Given the description of an element on the screen output the (x, y) to click on. 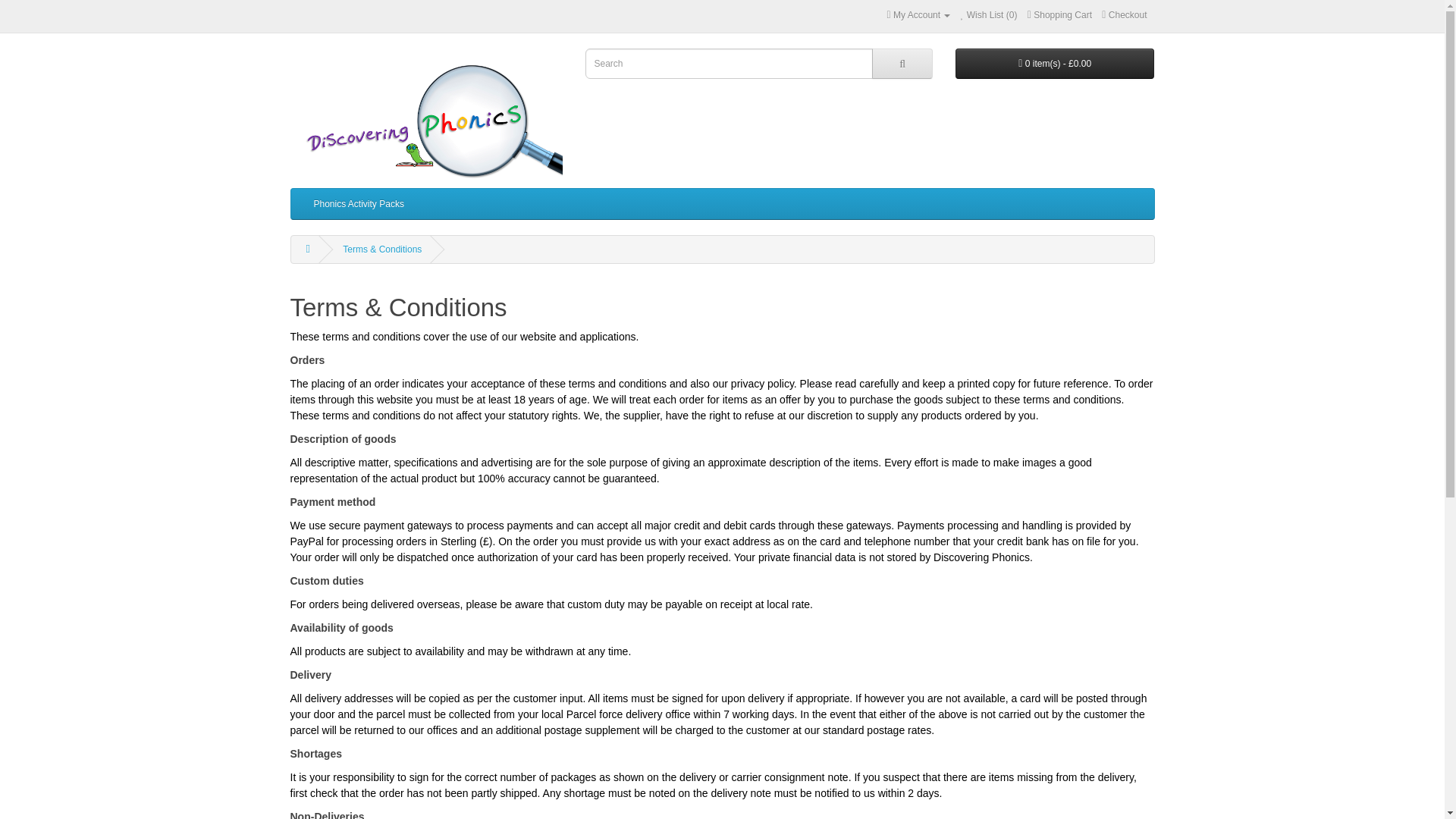
My Account (918, 14)
Checkout (1124, 14)
Discovering Phonics Shop (425, 114)
Checkout (1124, 14)
My Account (918, 14)
Shopping Cart (1059, 14)
Phonics Activity Packs (357, 203)
Shopping Cart (1059, 14)
